Given the description of an element on the screen output the (x, y) to click on. 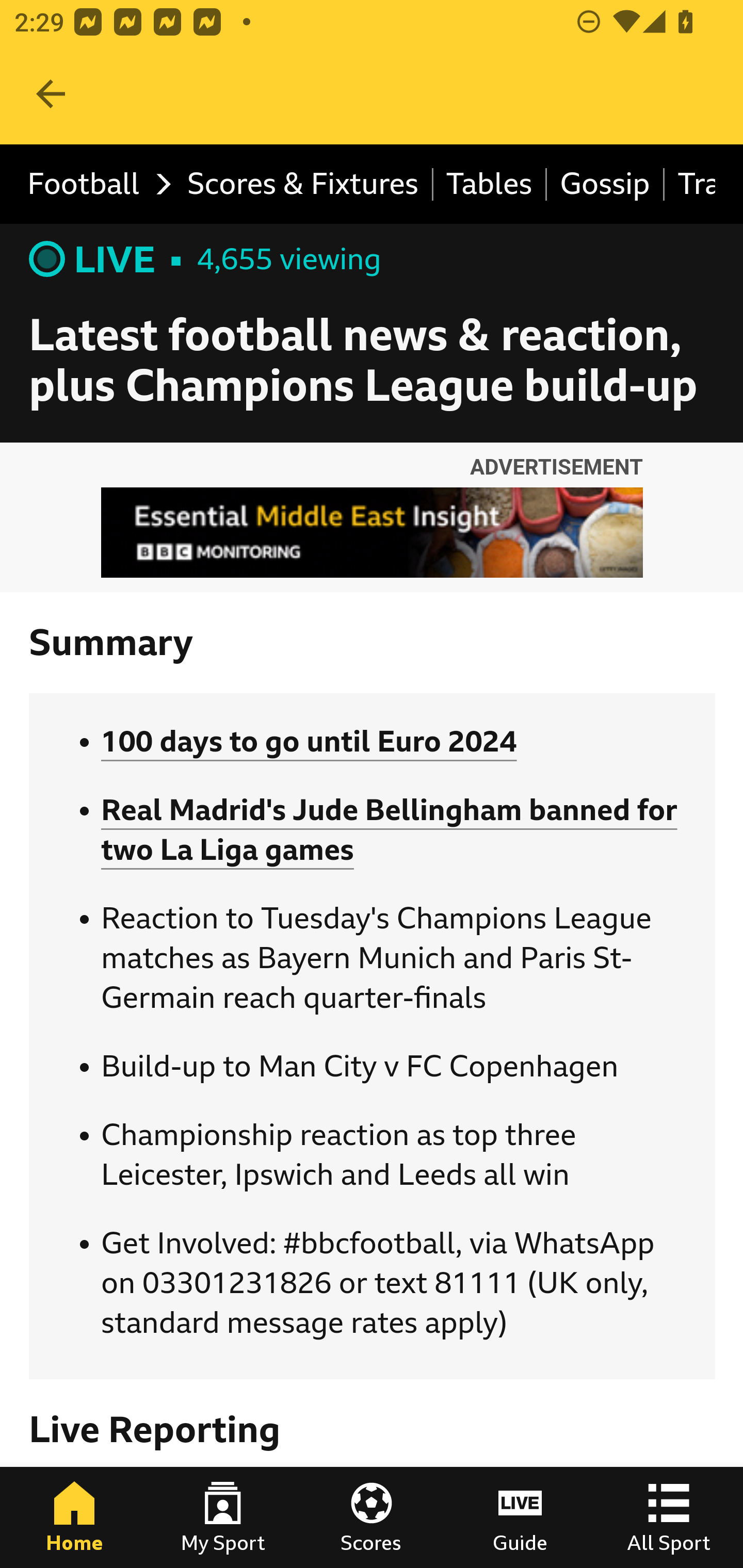
Navigate up (50, 93)
Football (94, 184)
Scores & Fixtures (303, 184)
Tables (490, 184)
Gossip (605, 184)
Transfers (690, 184)
100 days to go until Euro 2024 (309, 742)
My Sport (222, 1517)
Scores (371, 1517)
Guide (519, 1517)
All Sport (668, 1517)
